Given the description of an element on the screen output the (x, y) to click on. 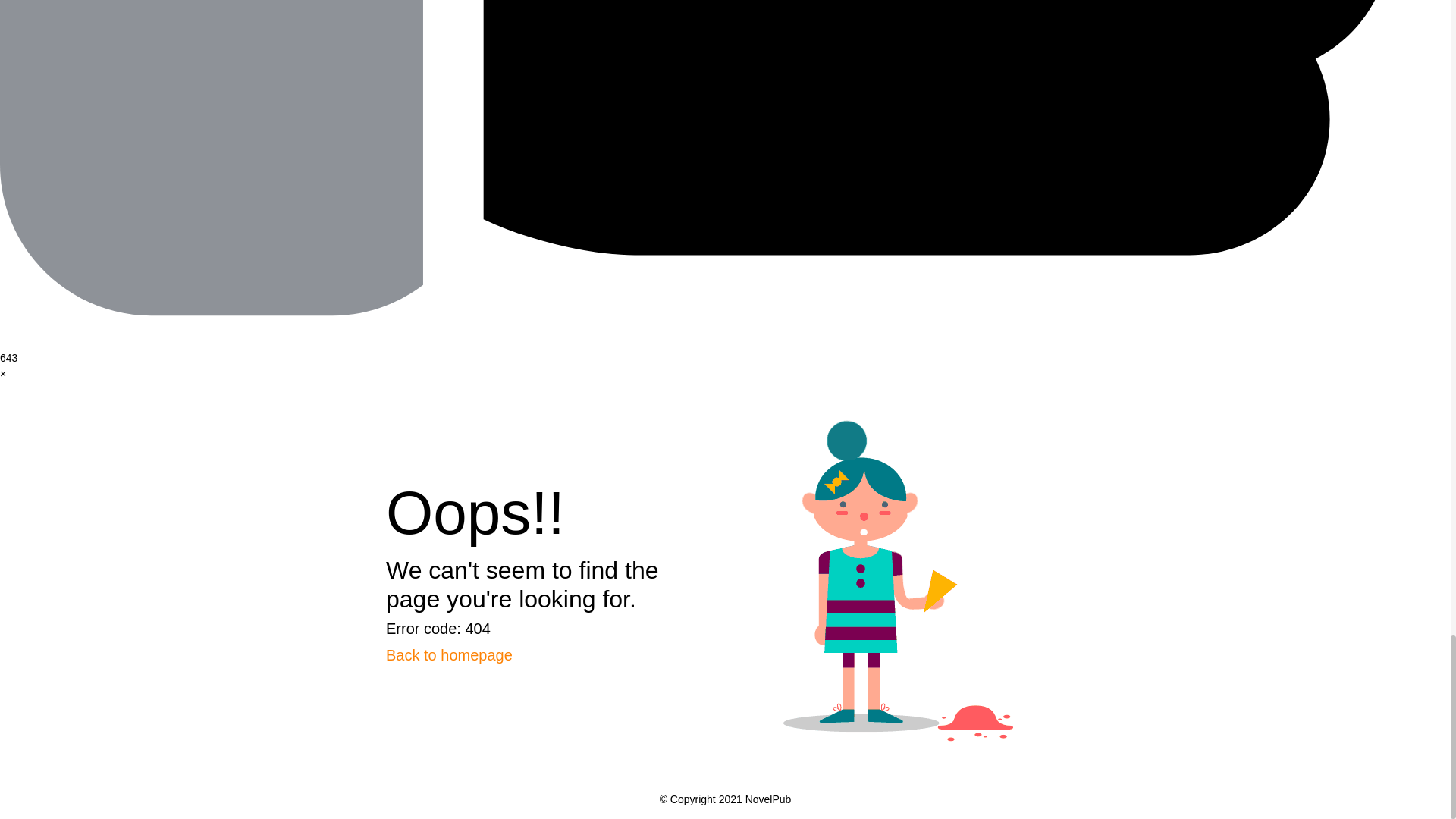
Back to homepage (448, 655)
